Given the description of an element on the screen output the (x, y) to click on. 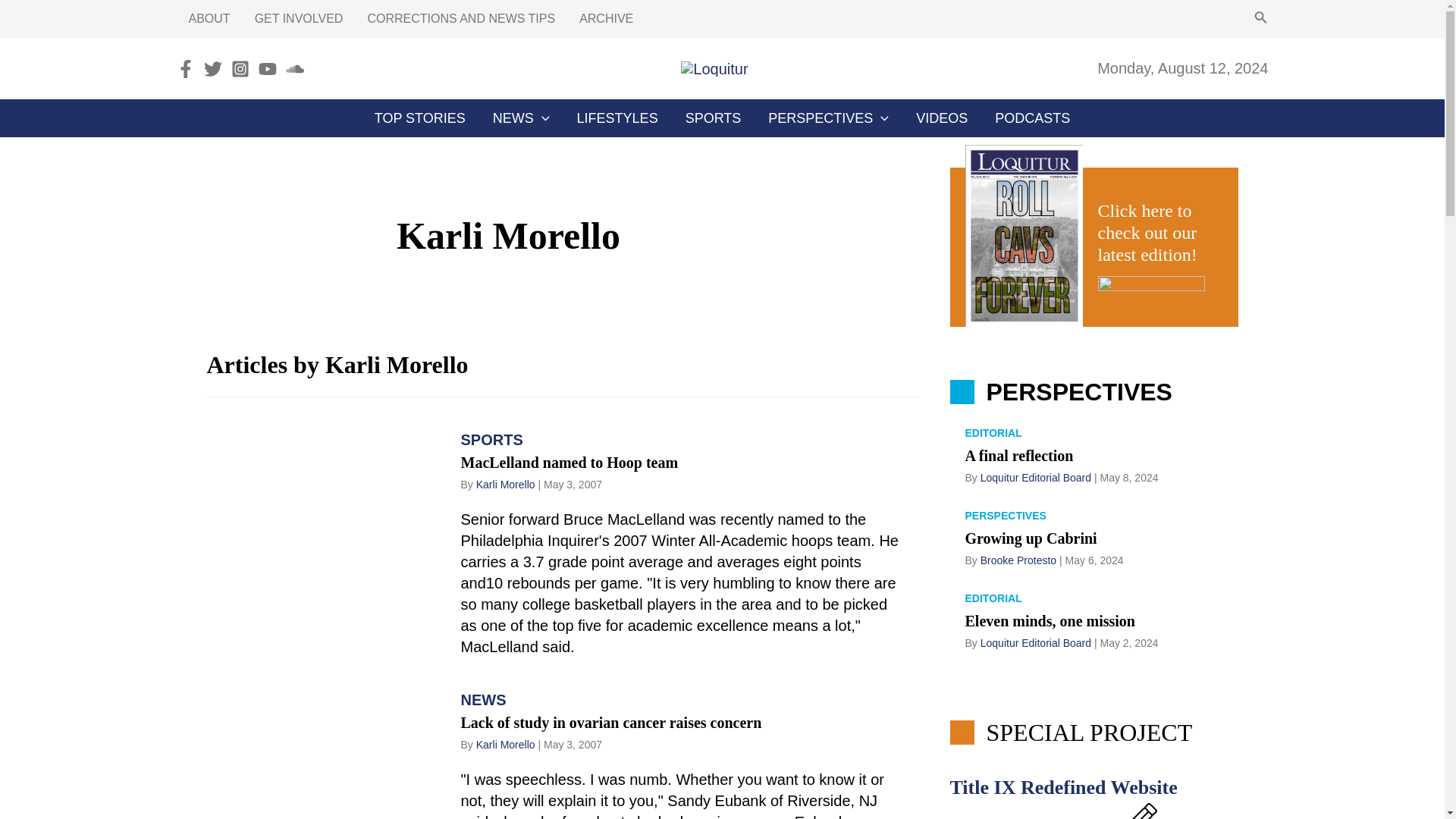
SPORTS (713, 118)
ARCHIVE (606, 18)
VIDEOS (941, 118)
CORRECTIONS AND NEWS TIPS (461, 18)
NEWS (521, 118)
PERSPECTIVES (828, 118)
PODCASTS (1032, 118)
TOP STORIES (420, 118)
LIFESTYLES (617, 118)
GET INVOLVED (299, 18)
